Given the description of an element on the screen output the (x, y) to click on. 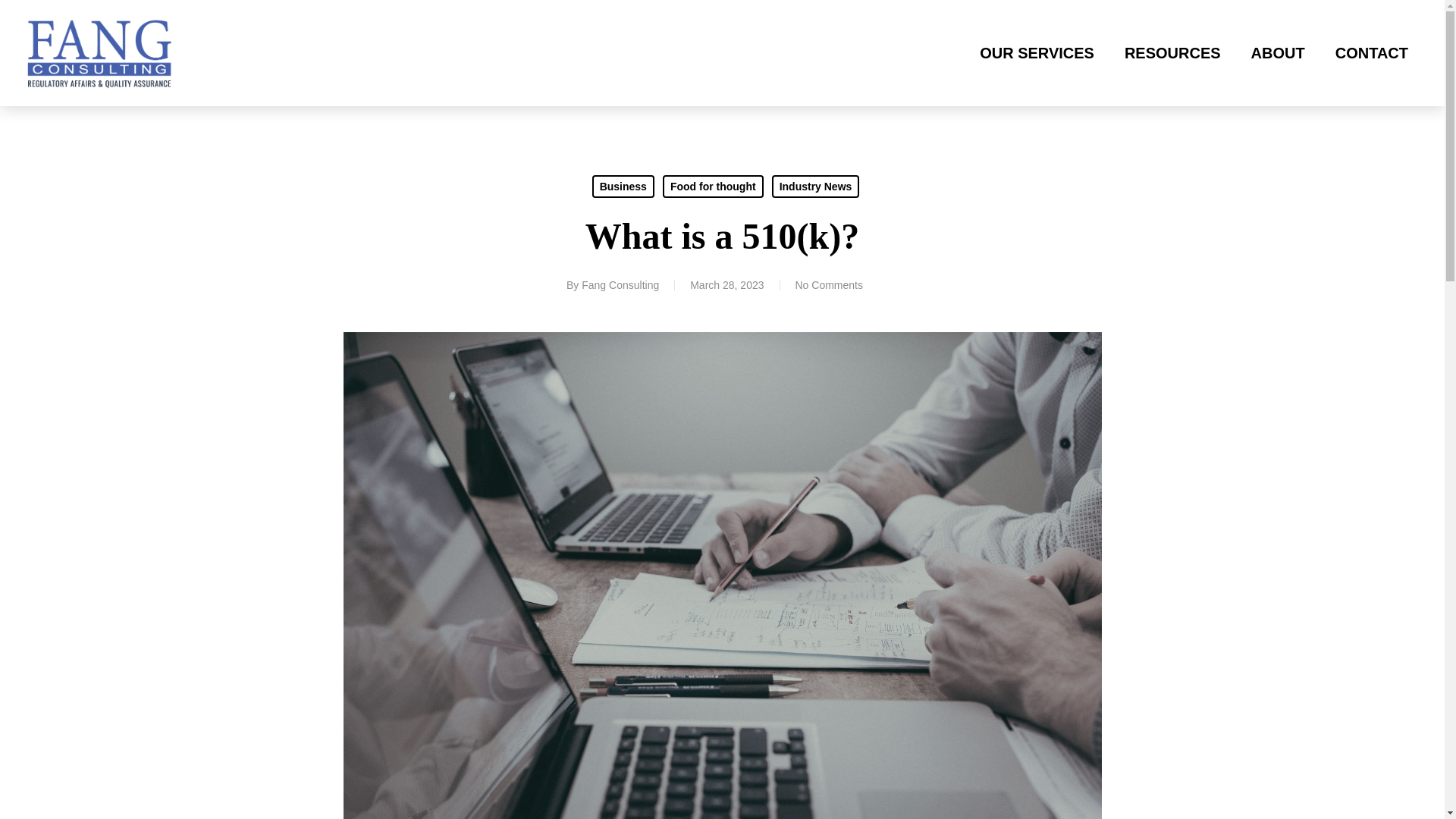
Food for thought (712, 186)
OUR SERVICES (1036, 52)
ABOUT (1277, 52)
No Comments (827, 285)
Industry News (815, 186)
Posts by Fang Consulting (619, 285)
Fang Consulting (619, 285)
RESOURCES (1172, 52)
CONTACT (1371, 52)
Business (622, 186)
